Given the description of an element on the screen output the (x, y) to click on. 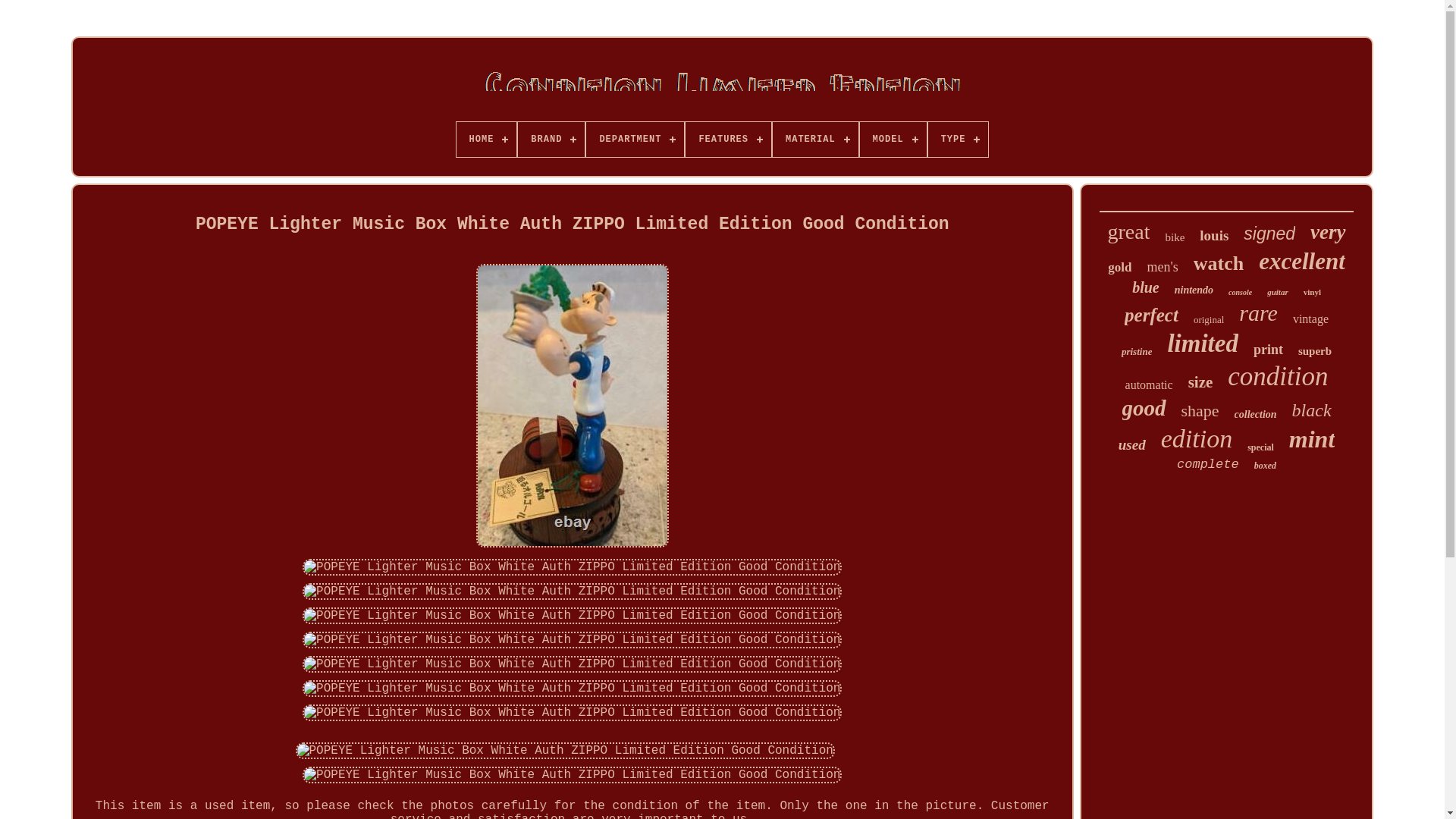
DEPARTMENT (635, 139)
BRAND (551, 139)
